Given the description of an element on the screen output the (x, y) to click on. 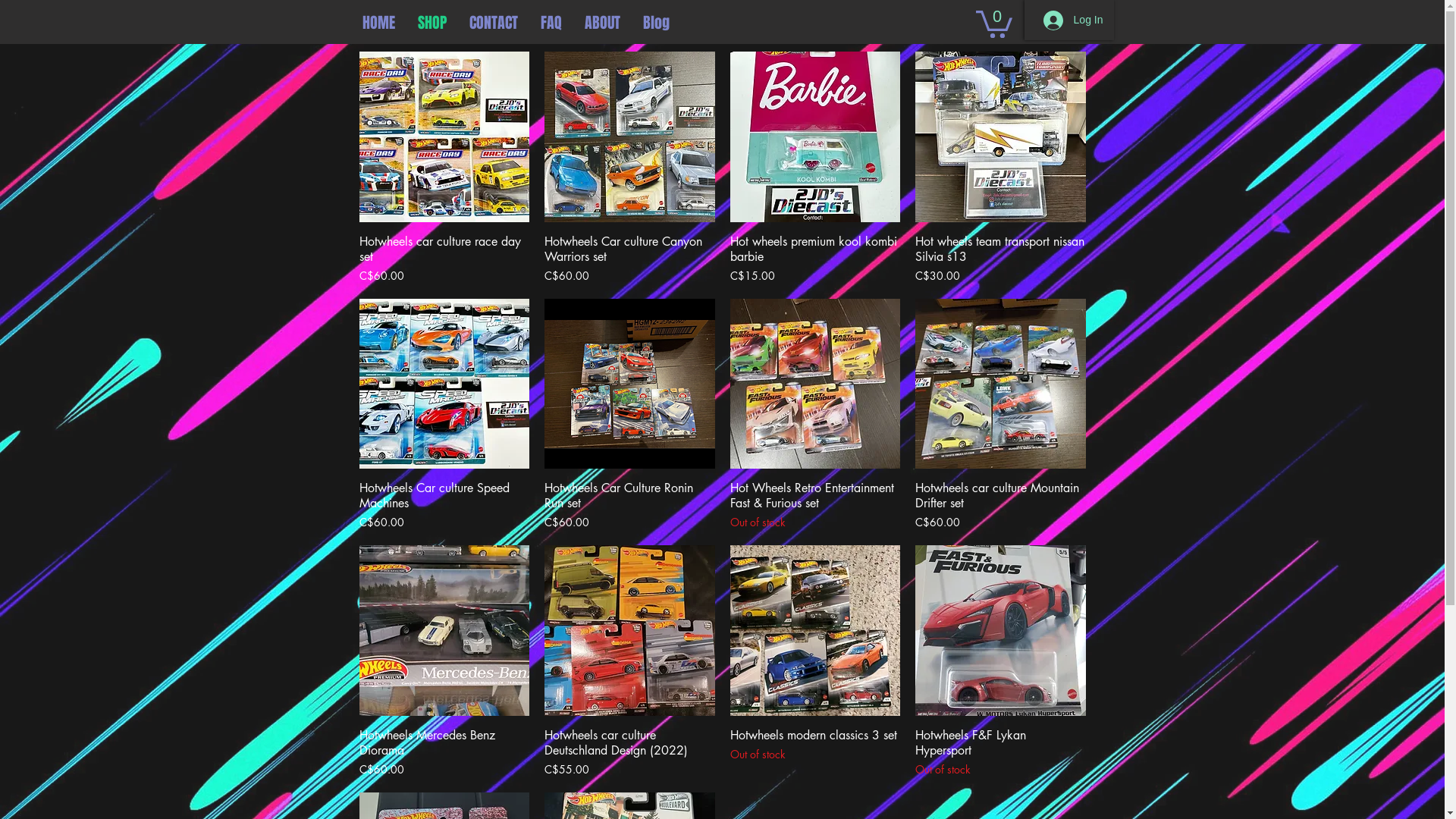
Blog Element type: text (1098, 22)
Hotwheels F&F Lykan Hypersport
Out of stock Element type: text (1000, 752)
Hotwheels car culture Mountain Drifter set
Price
C$60.00 Element type: text (1000, 505)
ABOUT Element type: text (1055, 22)
Hot wheels premium kool kombi barbie
Price
C$15.00 Element type: text (814, 258)
Hotwheels Car Culture Ronin Run set
Price
C$60.00 Element type: text (629, 505)
Hotwheels car culture race day set
Price
C$60.00 Element type: text (444, 258)
Hotwheels Car culture Speed Machines
Price
C$60.00 Element type: text (444, 505)
Hotwheels modern classics 3 set
Out of stock Element type: text (814, 752)
0 Element type: text (993, 22)
Hotwheels Mercedes Benz Diorama
Price
C$60.00 Element type: text (444, 752)
Hot wheels team transport nissan Silvia s13
Price
C$30.00 Element type: text (1000, 258)
Log In Element type: text (1072, 20)
FAQ Element type: text (1025, 22)
CONTACT Element type: text (493, 22)
Hotwheels Car culture Canyon Warriors set
Price
C$60.00 Element type: text (629, 258)
